Given the description of an element on the screen output the (x, y) to click on. 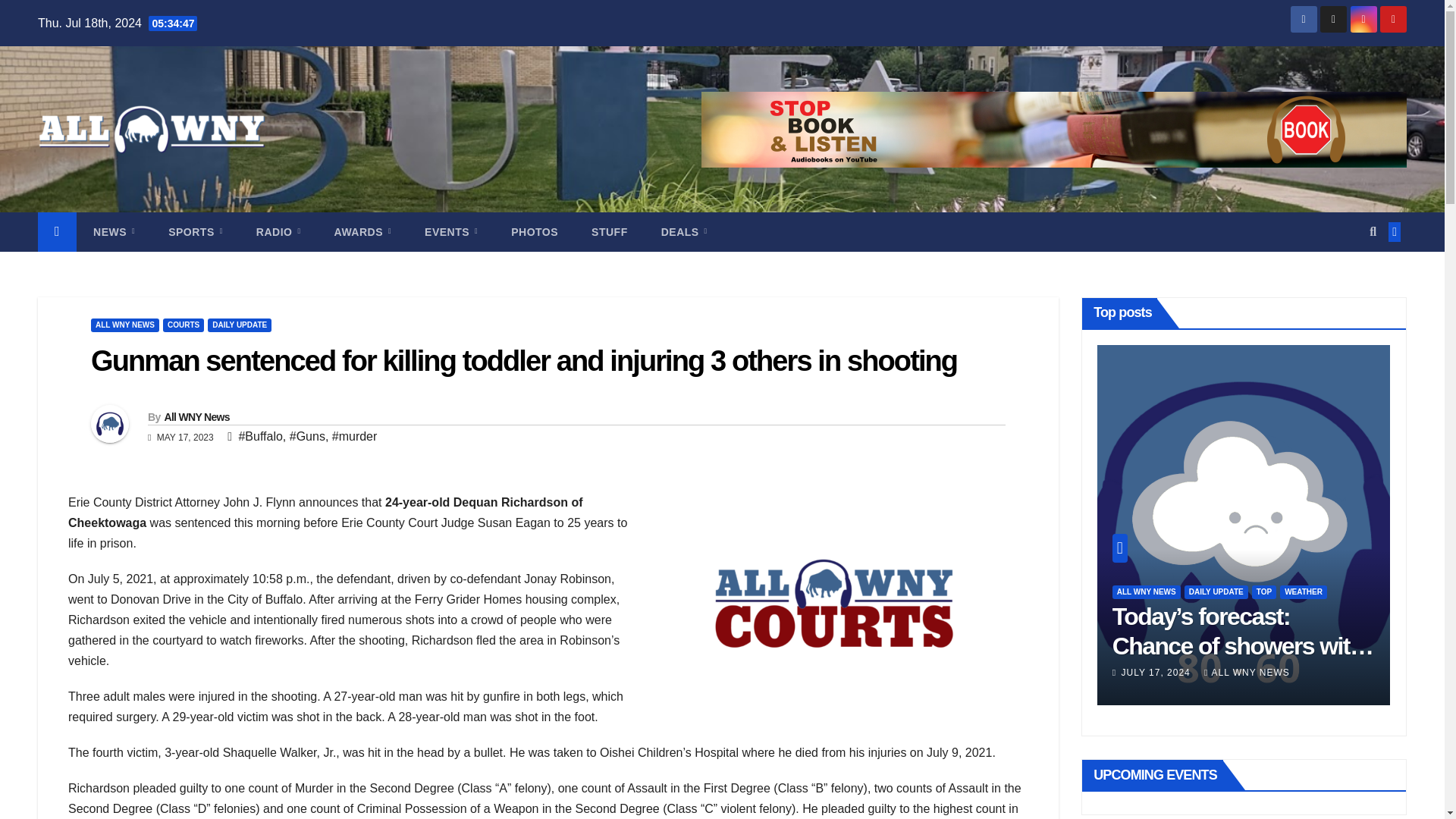
News (114, 231)
NEWS (114, 231)
Sports (195, 231)
RADIO (278, 231)
SPORTS (195, 231)
